Given the description of an element on the screen output the (x, y) to click on. 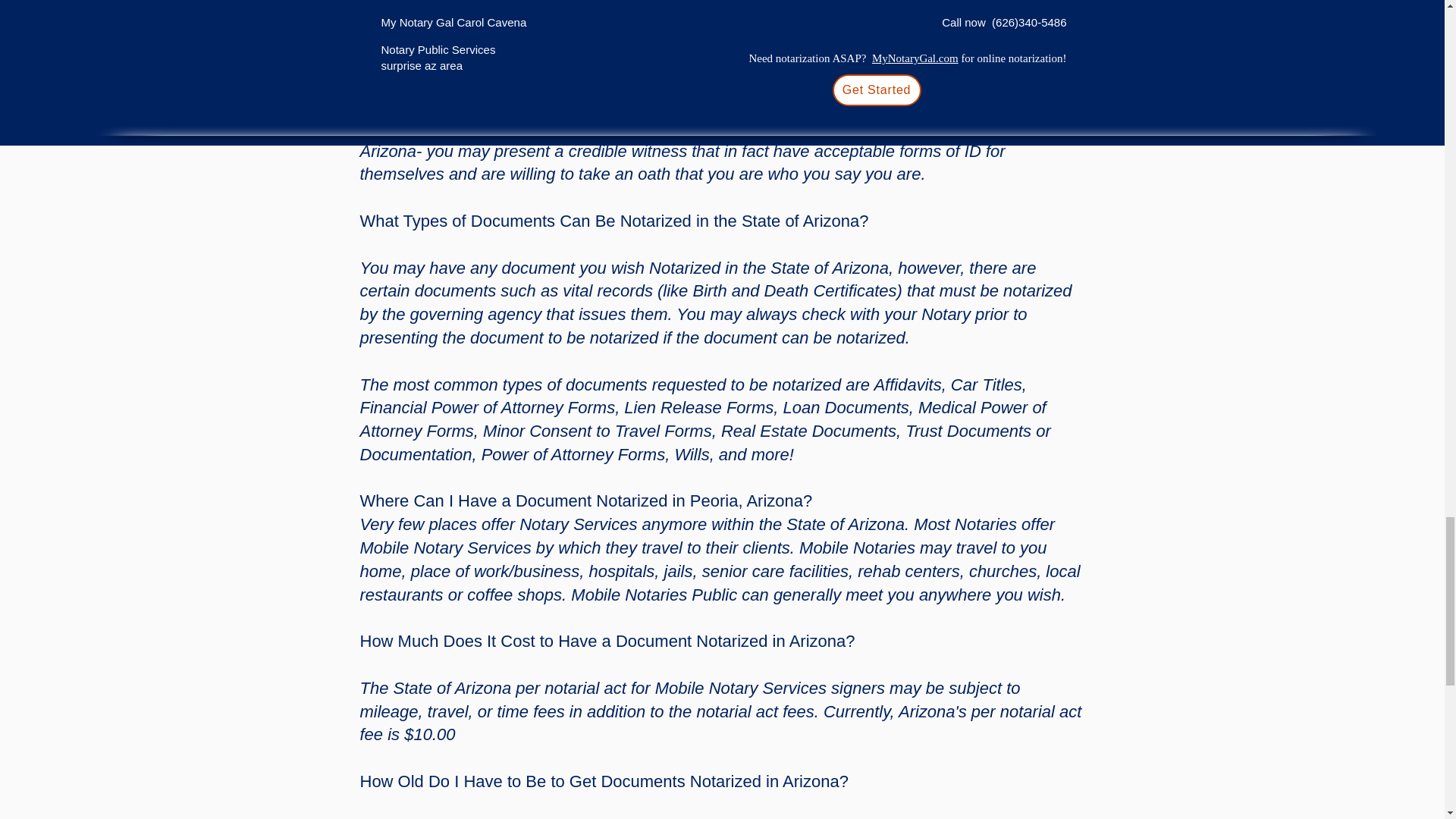
See Defense.gov (704, 10)
